Given the description of an element on the screen output the (x, y) to click on. 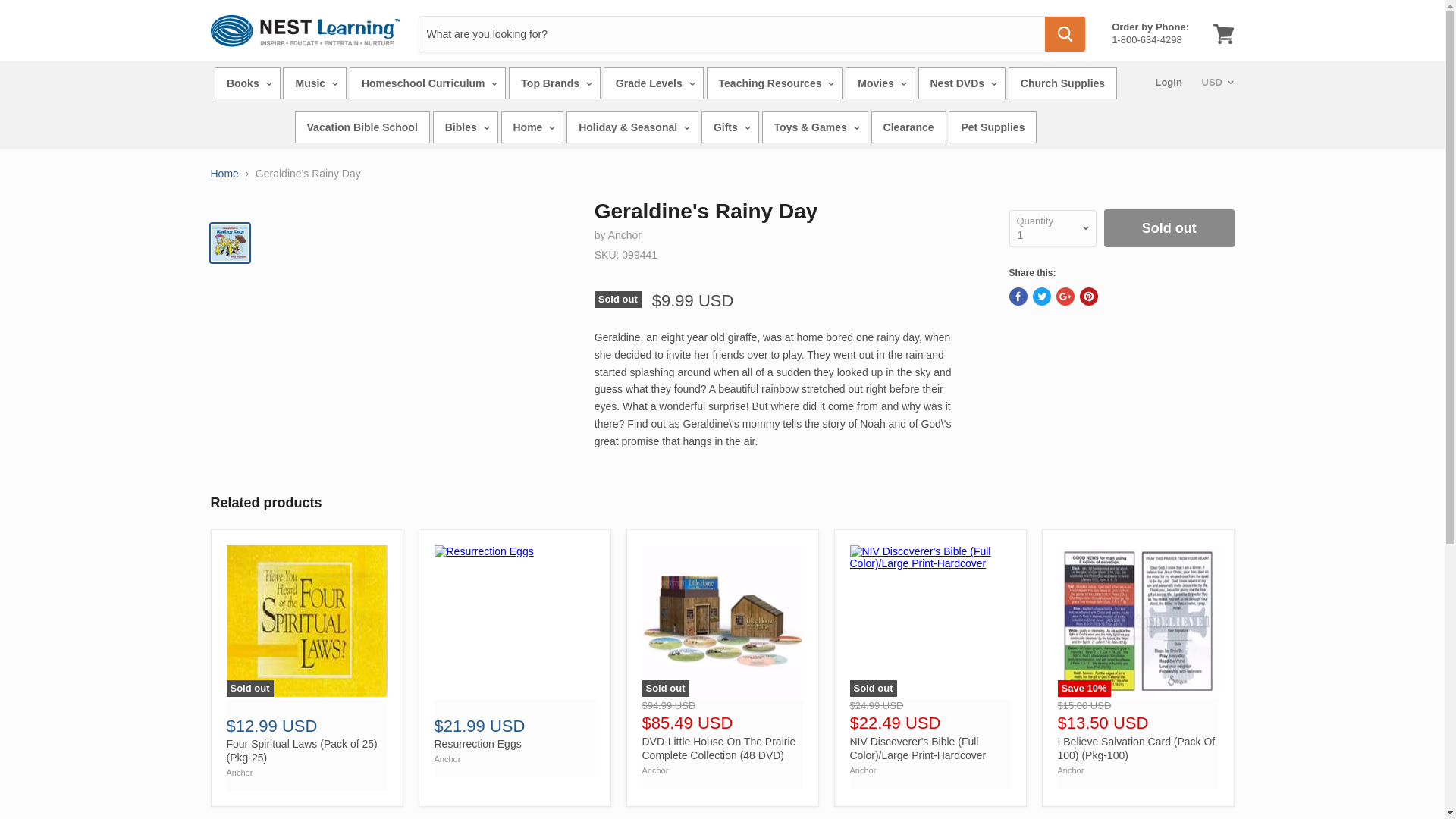
Homeschool Curriculum (427, 83)
Books (247, 83)
View cart (1223, 33)
Music (314, 83)
Top Brands (553, 83)
